Given the description of an element on the screen output the (x, y) to click on. 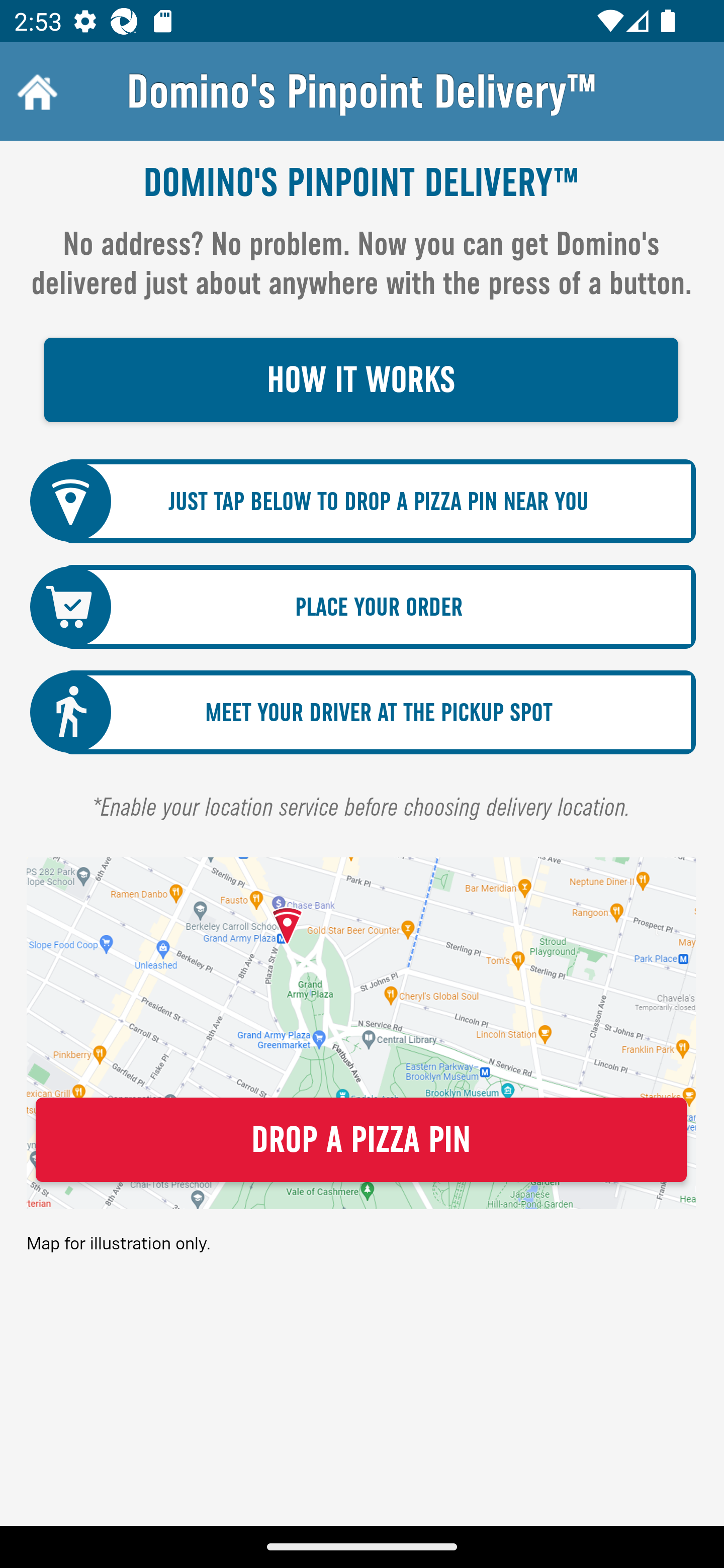
Home (35, 91)
DROP A PIZZA PIN (361, 1139)
